Given the description of an element on the screen output the (x, y) to click on. 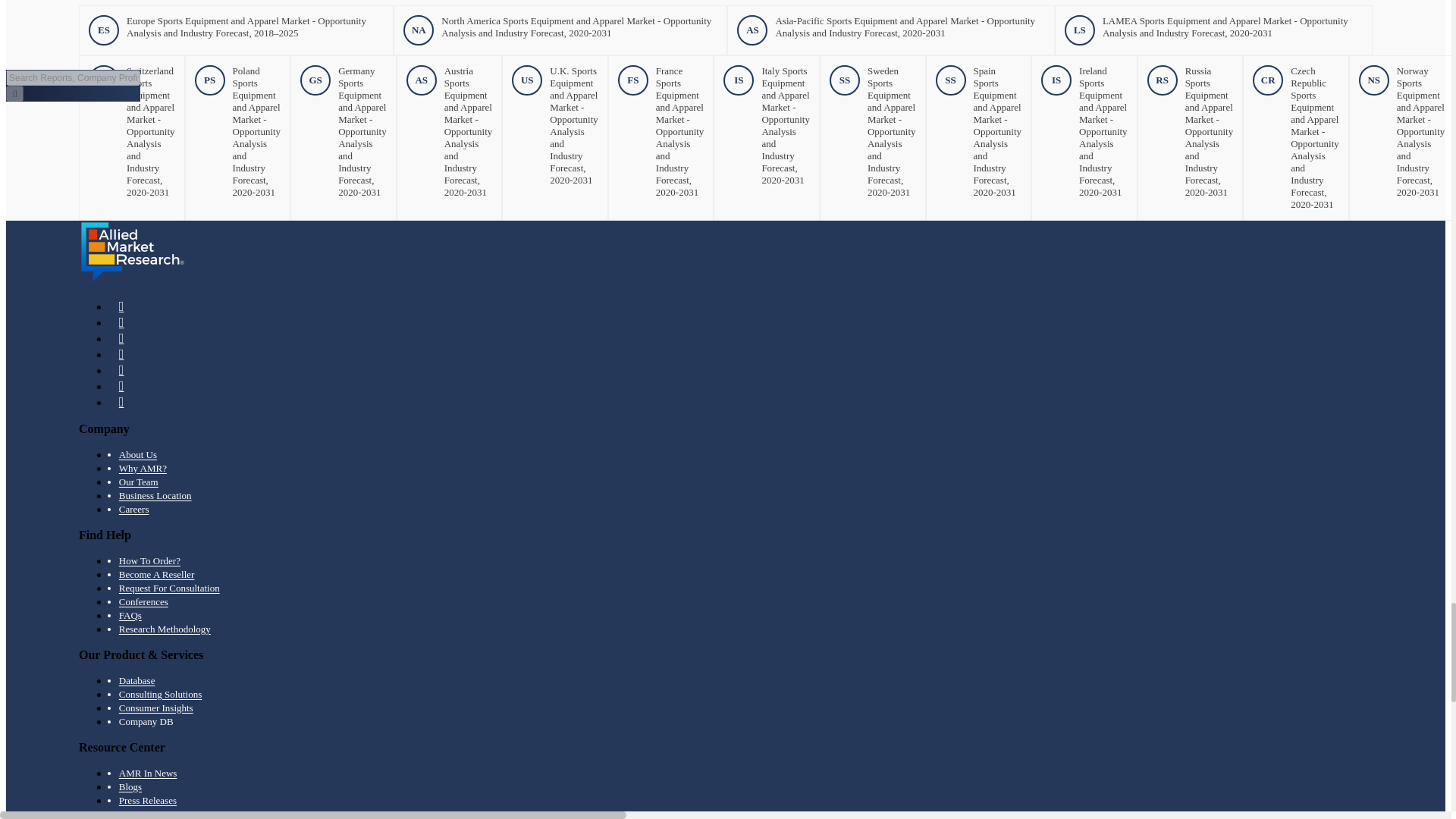
Linkedin (121, 322)
Facebook (121, 306)
Allied Market Research Footer Logo (132, 251)
Twitter (121, 338)
